Given the description of an element on the screen output the (x, y) to click on. 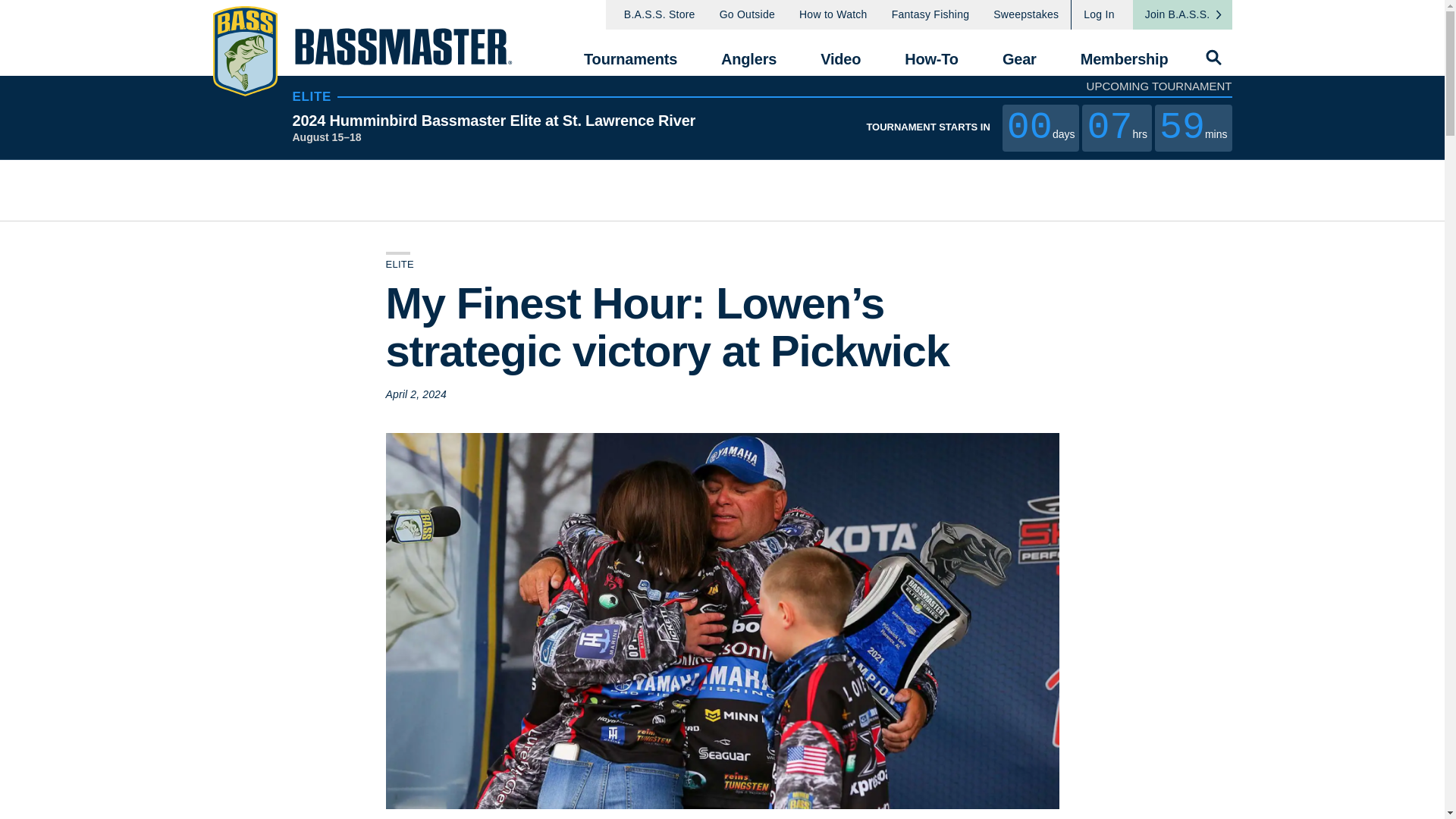
Video (840, 52)
How-To (931, 52)
Anglers (748, 52)
Tournaments (630, 52)
